Given the description of an element on the screen output the (x, y) to click on. 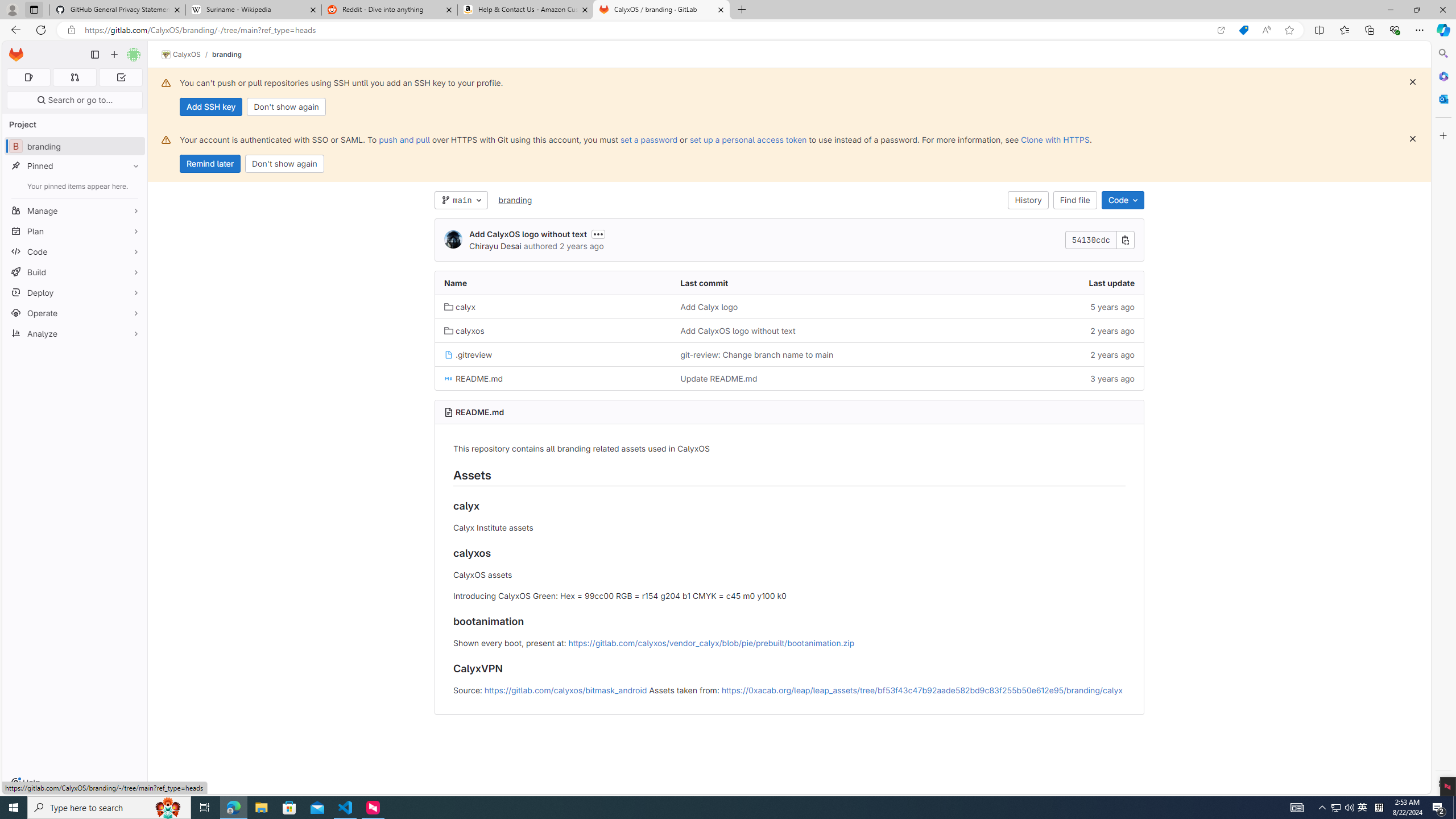
Pinned (74, 165)
CalyxOS/ (186, 54)
Add CalyxOS logo without text (789, 330)
Don't show again (284, 163)
Last commit (789, 282)
Open in app (1220, 29)
Add SSH key (211, 106)
CalyxOS (180, 54)
Dismiss (1412, 138)
Analyze (74, 333)
Merge requests 0 (74, 76)
